Given the description of an element on the screen output the (x, y) to click on. 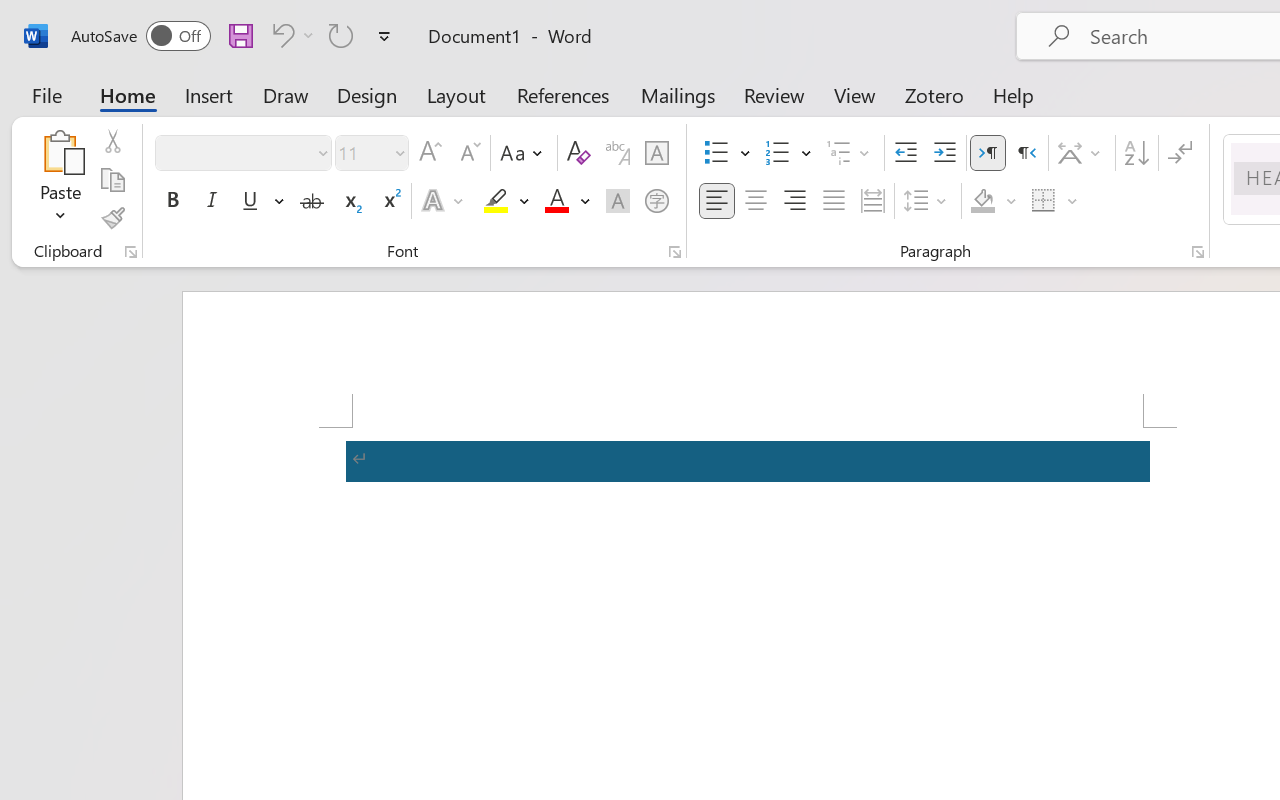
Repeat Accessibility Checker (341, 35)
Shading No Color (982, 201)
Undo Apply Quick Style Set (280, 35)
